Given the description of an element on the screen output the (x, y) to click on. 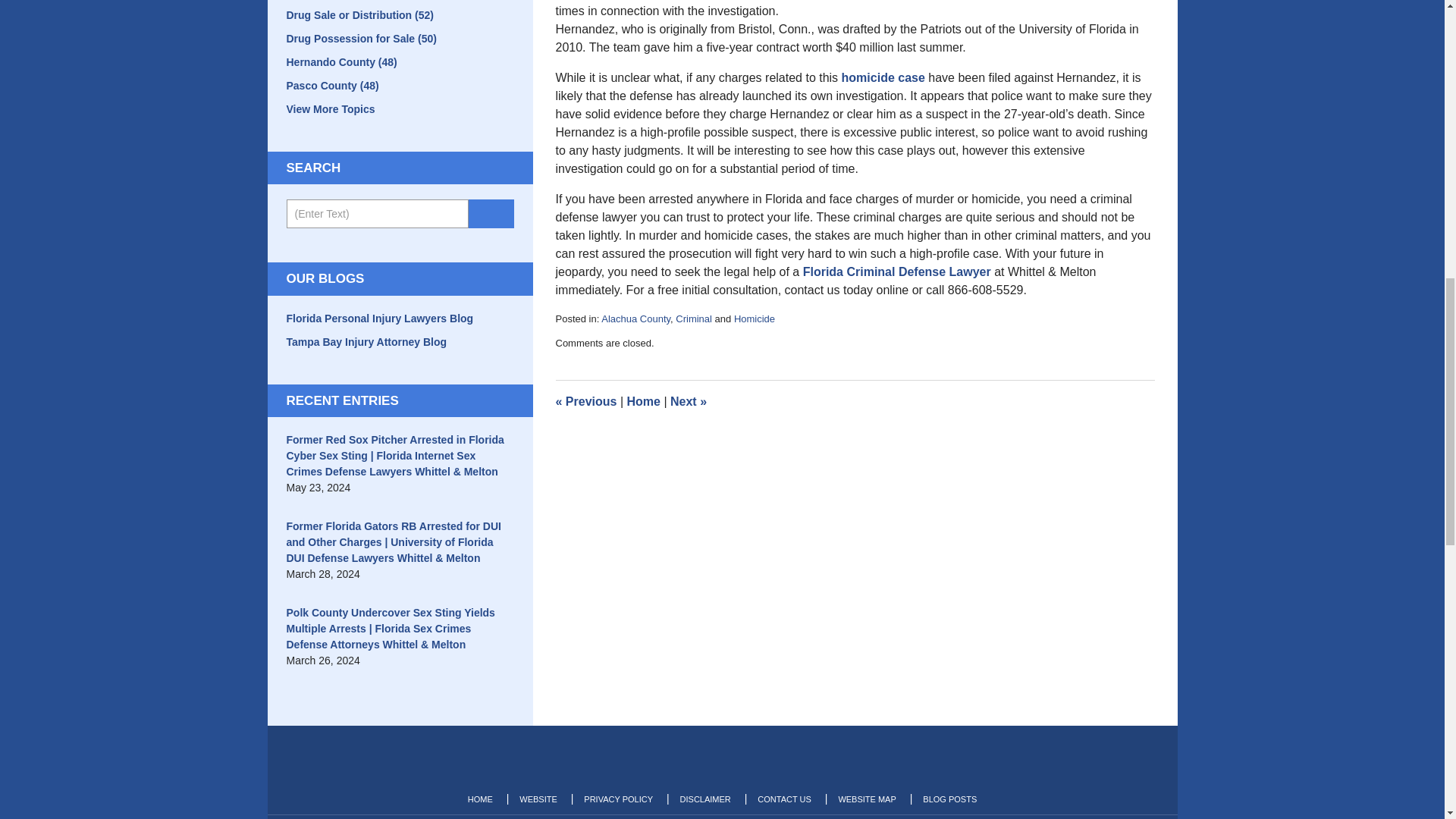
Homicide (753, 318)
homicide case (882, 77)
Criminal (693, 318)
Alachua County (635, 318)
View all posts in Homicide (753, 318)
View all posts in Criminal (693, 318)
View all posts in Alachua County (635, 318)
Home (642, 400)
Florida Criminal Defense Lawyer (897, 271)
